Given the description of an element on the screen output the (x, y) to click on. 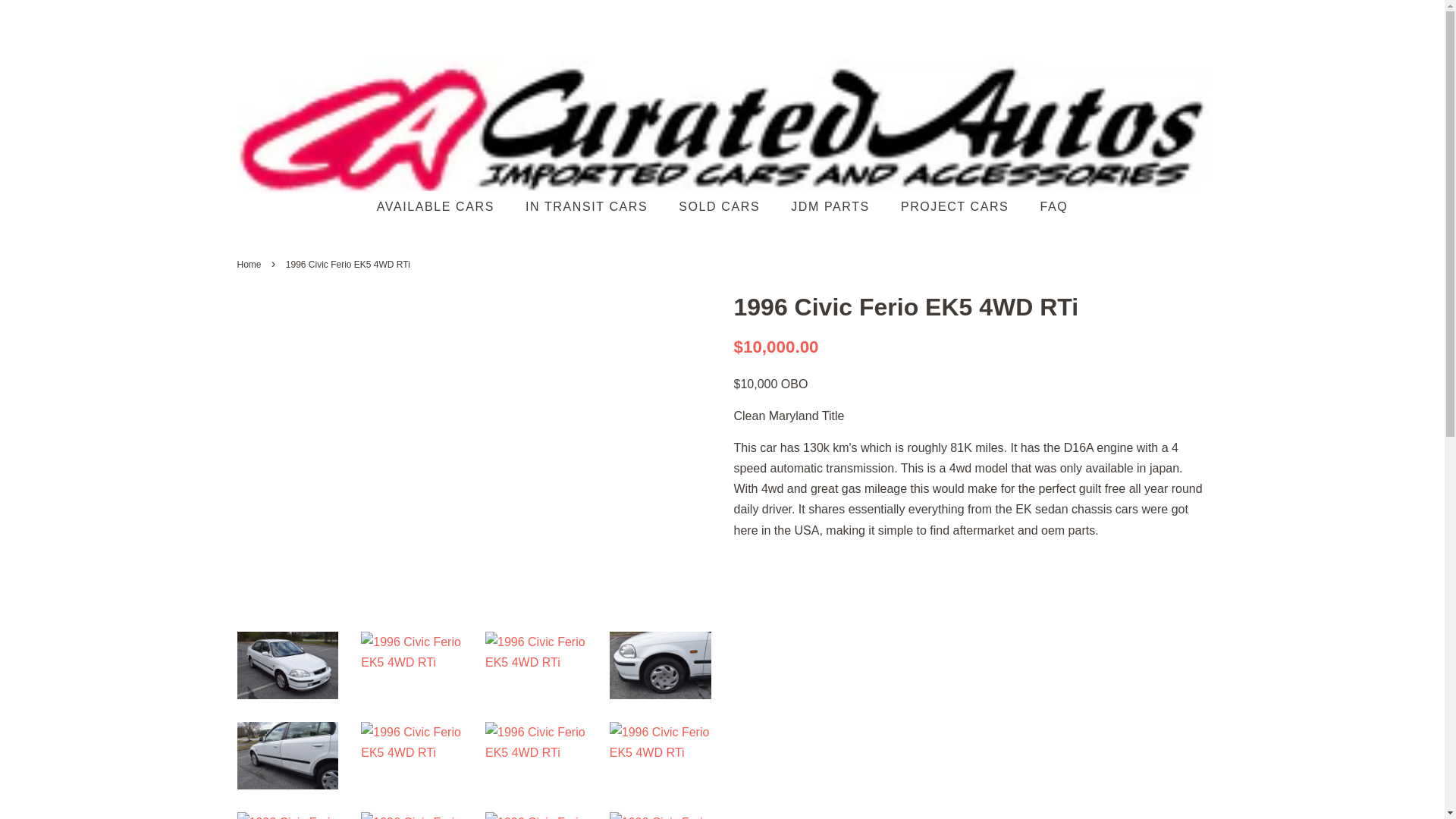
JDM PARTS (831, 205)
Cart (1197, 18)
PROJECT CARS (956, 205)
IN TRANSIT CARS (587, 205)
FAQ (1047, 205)
SOLD CARS (720, 205)
Back to the frontpage (249, 264)
Home (249, 264)
AVAILABLE CARS (443, 205)
